Given the description of an element on the screen output the (x, y) to click on. 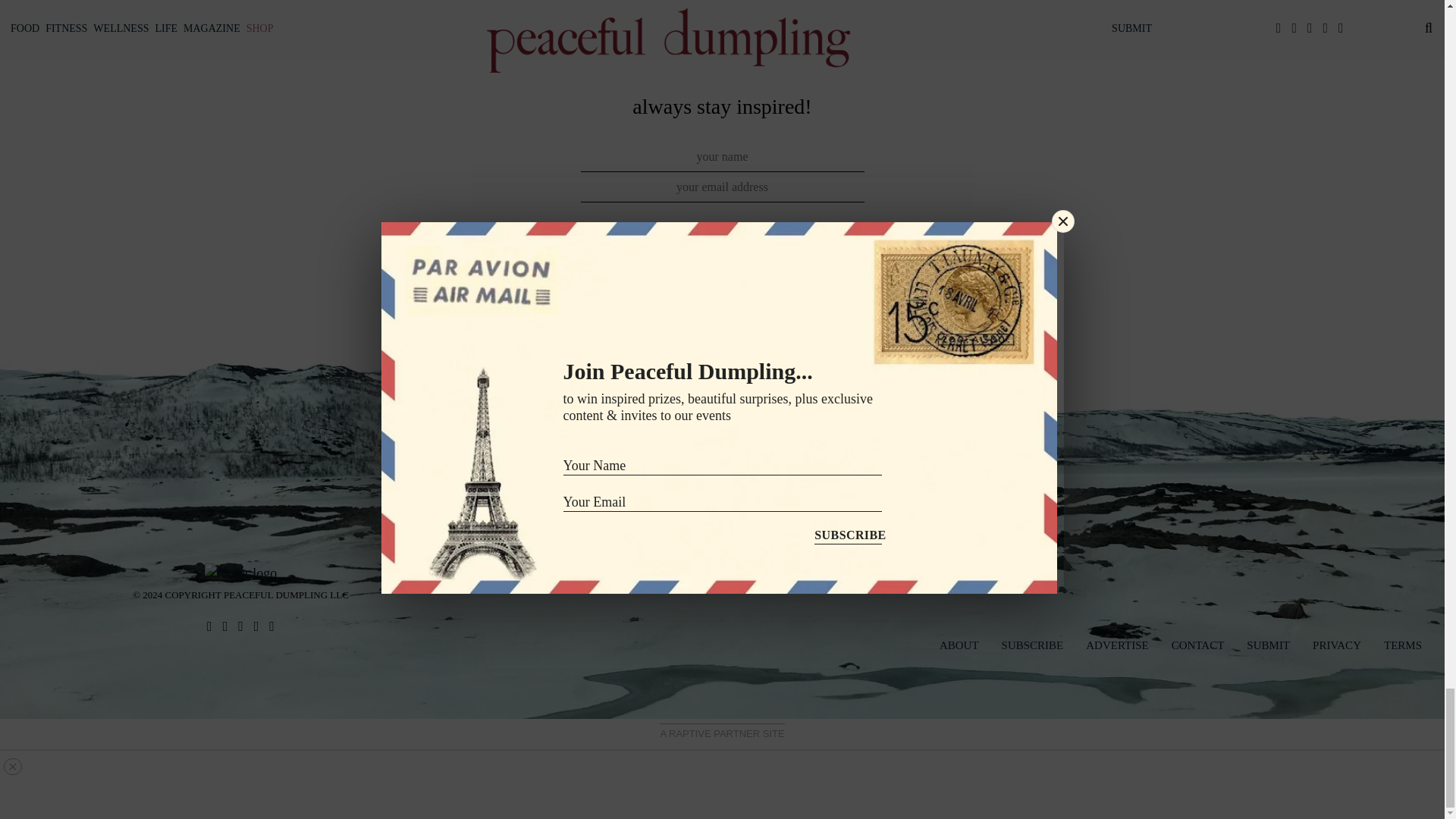
1 (581, 245)
Subscribe! (721, 294)
Peaceful Dumpling (240, 572)
